Given the description of an element on the screen output the (x, y) to click on. 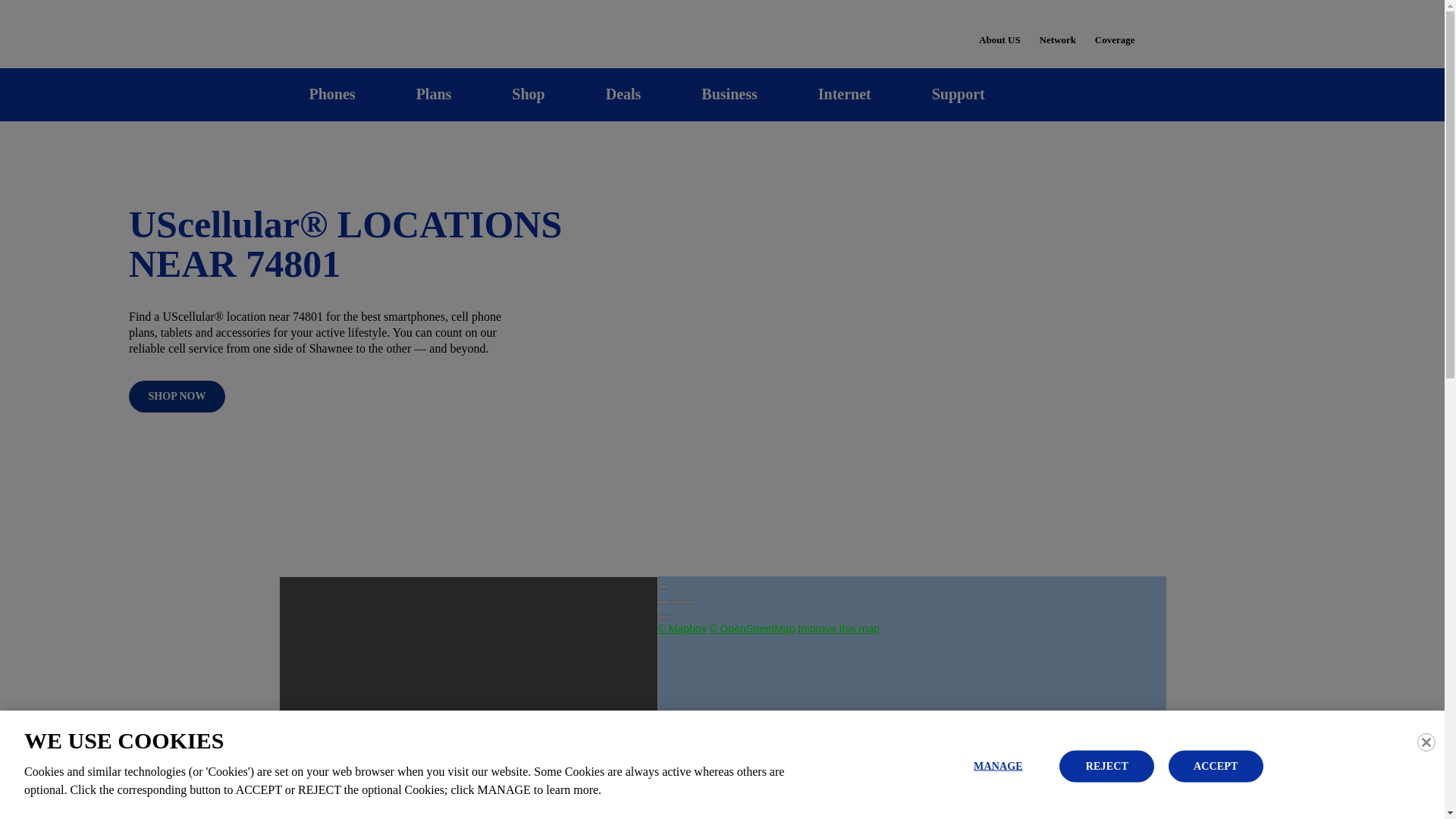
About US (999, 30)
Internet (844, 94)
Plans (433, 94)
Support (957, 94)
Coverage (1115, 29)
OpenStreetMap (751, 628)
Improve this map (838, 628)
Network (1057, 30)
SHOP NOW (177, 396)
Mapbox (682, 628)
Shop (528, 94)
Phones (332, 94)
Deals (623, 94)
Business (729, 94)
